Given the description of an element on the screen output the (x, y) to click on. 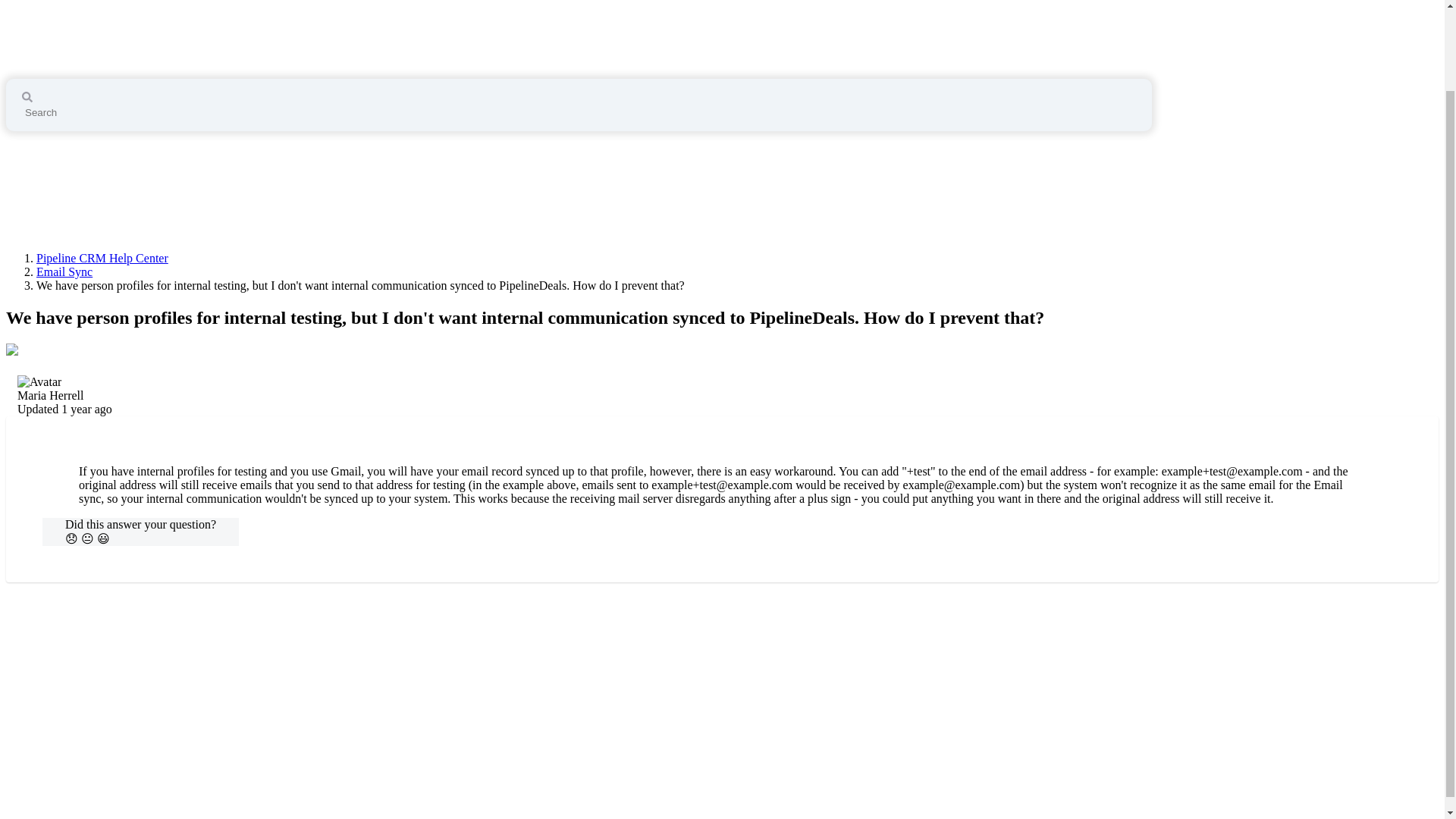
Pipeline CRM Help Center (102, 257)
Pipeline CRM Help Center (128, 25)
Email Sync (64, 271)
